Given the description of an element on the screen output the (x, y) to click on. 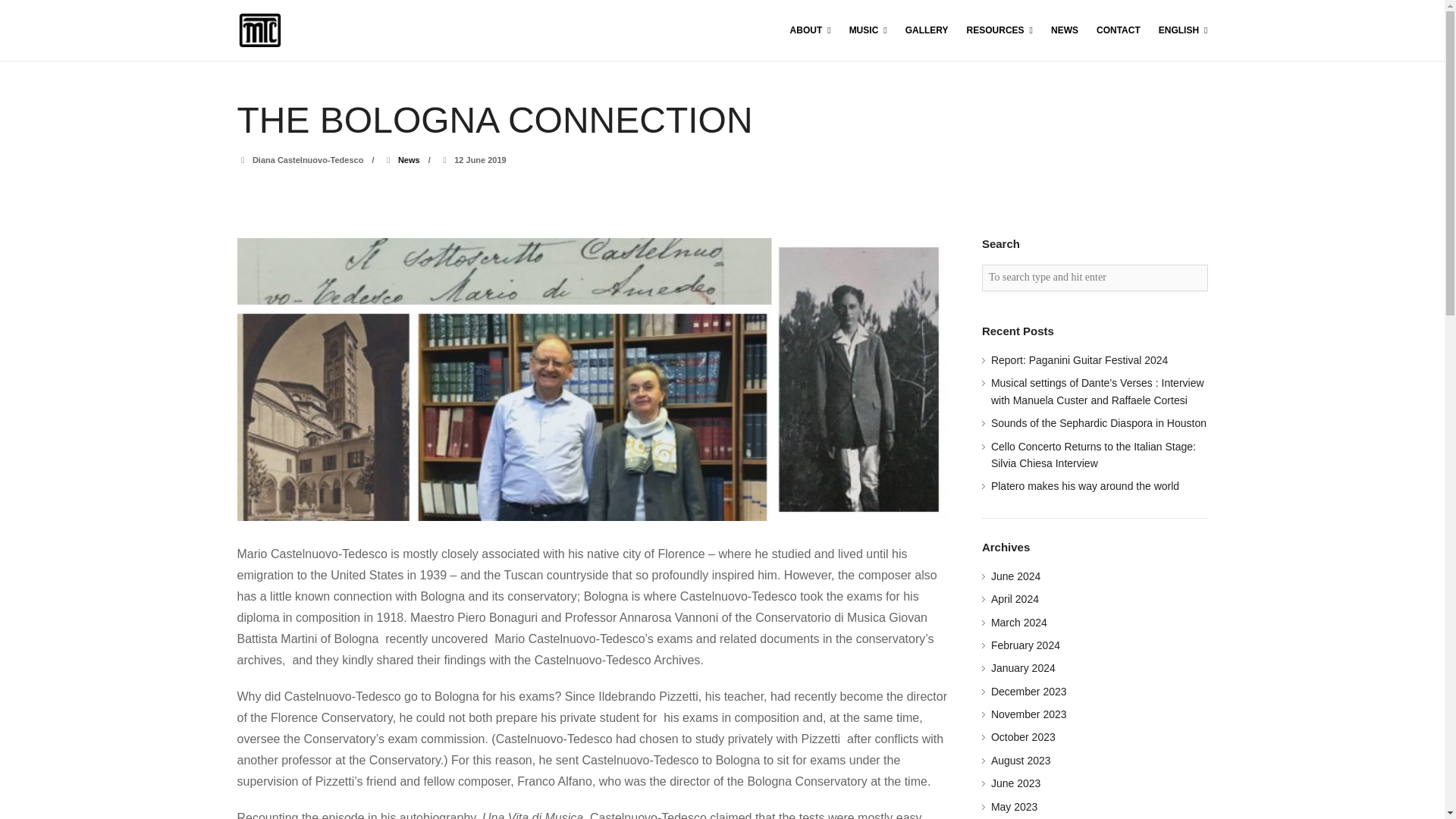
CONTACT (1118, 30)
English (1183, 30)
NEWS (1064, 30)
June 2024 (1016, 576)
Platero makes his way around the world (1085, 485)
ABOUT (810, 30)
Report: Paganini Guitar Festival 2024 (1079, 359)
News (408, 159)
Search (34, 13)
MUSIC (867, 30)
RESOURCES (999, 30)
April 2024 (1015, 598)
Sounds of the Sephardic Diaspora in Houston (1099, 422)
GALLERY (927, 30)
ENGLISH (1183, 30)
